Given the description of an element on the screen output the (x, y) to click on. 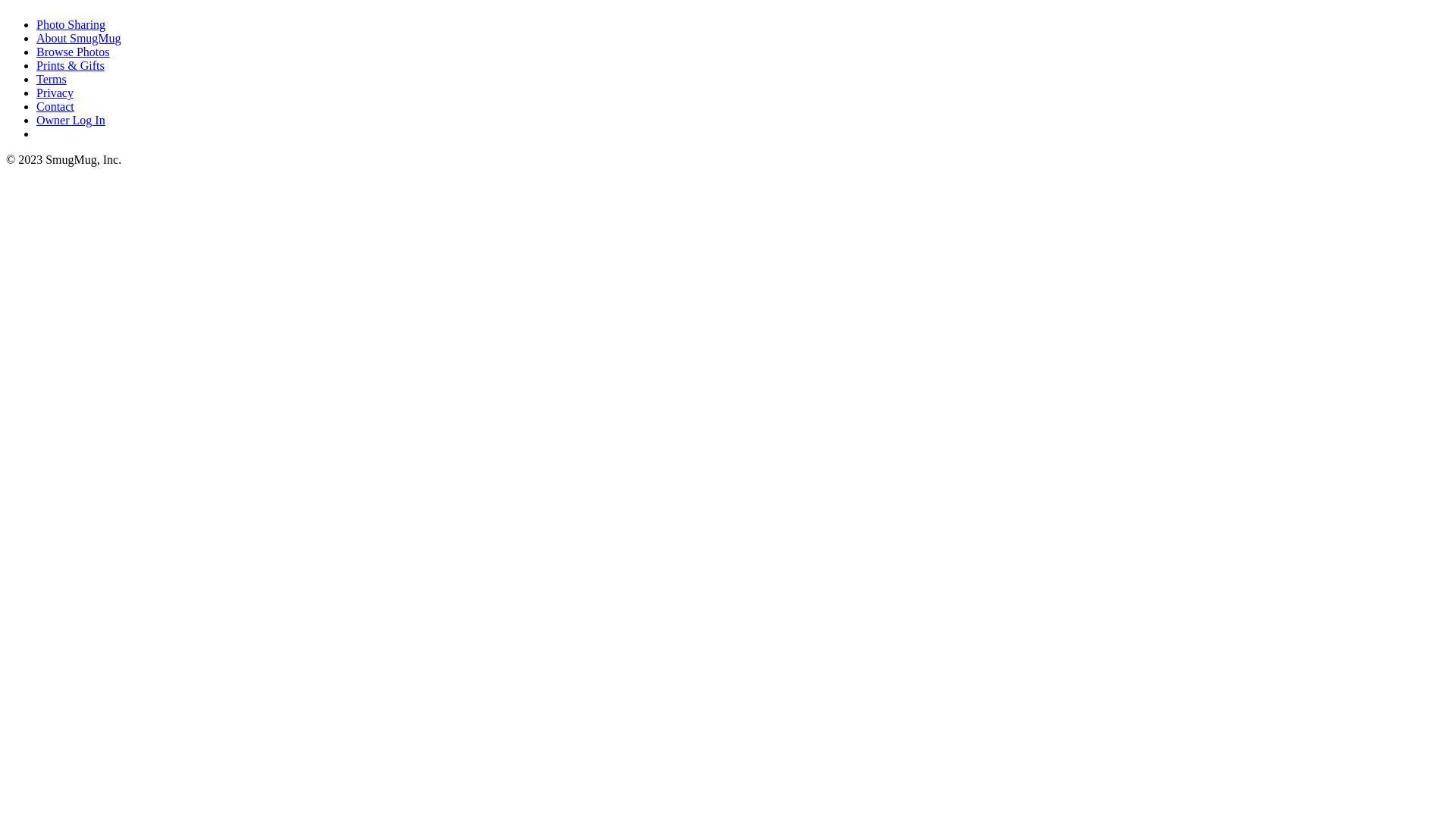
Owner Log In Element type: text (70, 119)
Contact Element type: text (55, 106)
Terms Element type: text (51, 78)
About SmugMug Element type: text (78, 37)
Browse Photos Element type: text (72, 51)
Privacy Element type: text (54, 92)
Prints & Gifts Element type: text (70, 65)
Photo Sharing Element type: text (70, 24)
